Given the description of an element on the screen output the (x, y) to click on. 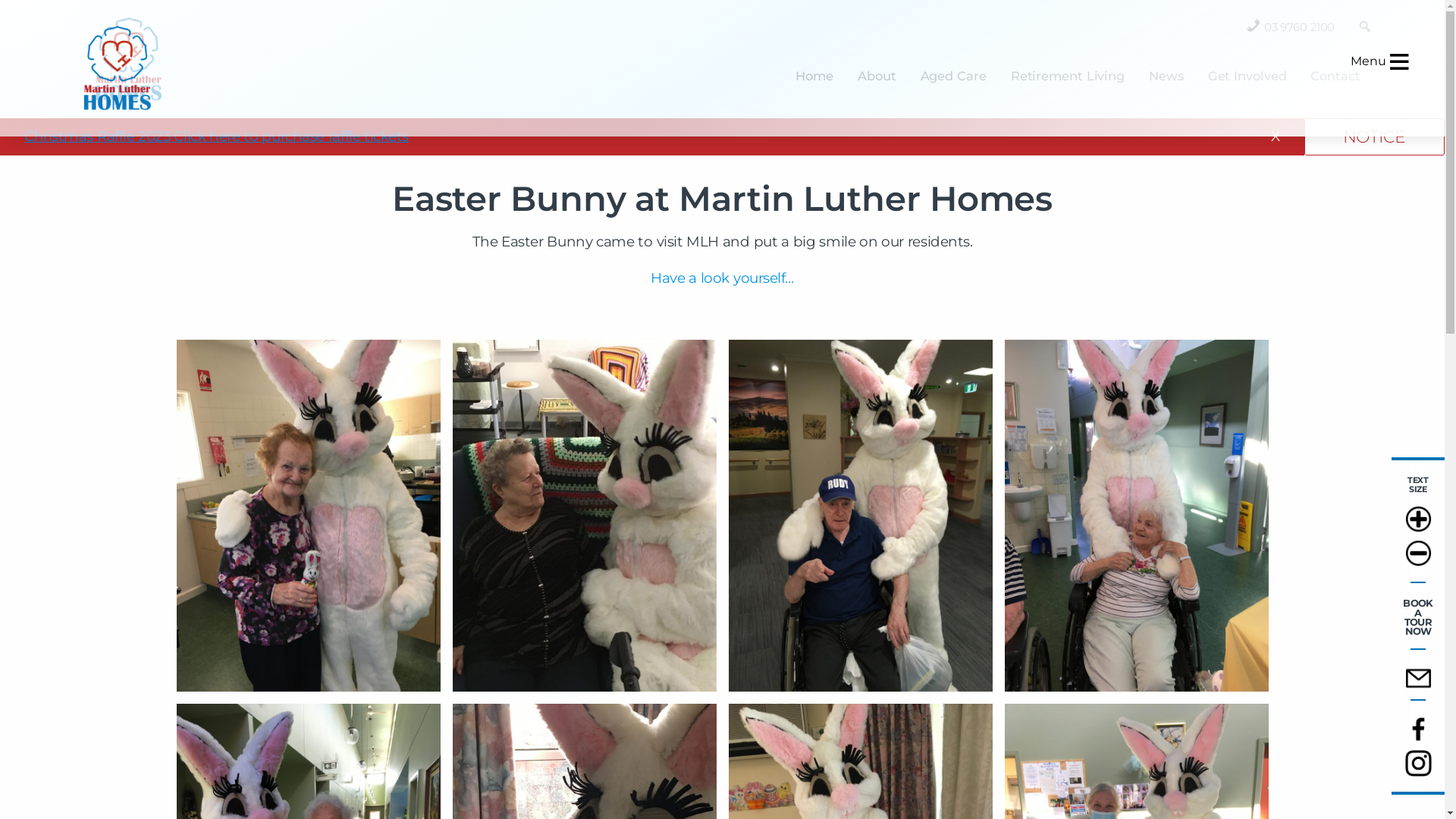
Home Element type: text (814, 75)
News Element type: text (1165, 75)
GO Element type: text (1364, 34)
NOTICE Element type: text (1374, 136)
Contact Element type: text (1334, 75)
Aged Care Element type: text (953, 75)
BOOK A TOUR NOW Element type: text (1417, 616)
03 9760 2100 Element type: text (1299, 24)
Christmas Raffle 2023 Click here to purchase raffle tickets Element type: text (216, 135)
Get Involved Element type: text (1247, 75)
Menu Element type: text (1357, 67)
About Element type: text (876, 75)
Retirement Living Element type: text (1067, 75)
